Given the description of an element on the screen output the (x, y) to click on. 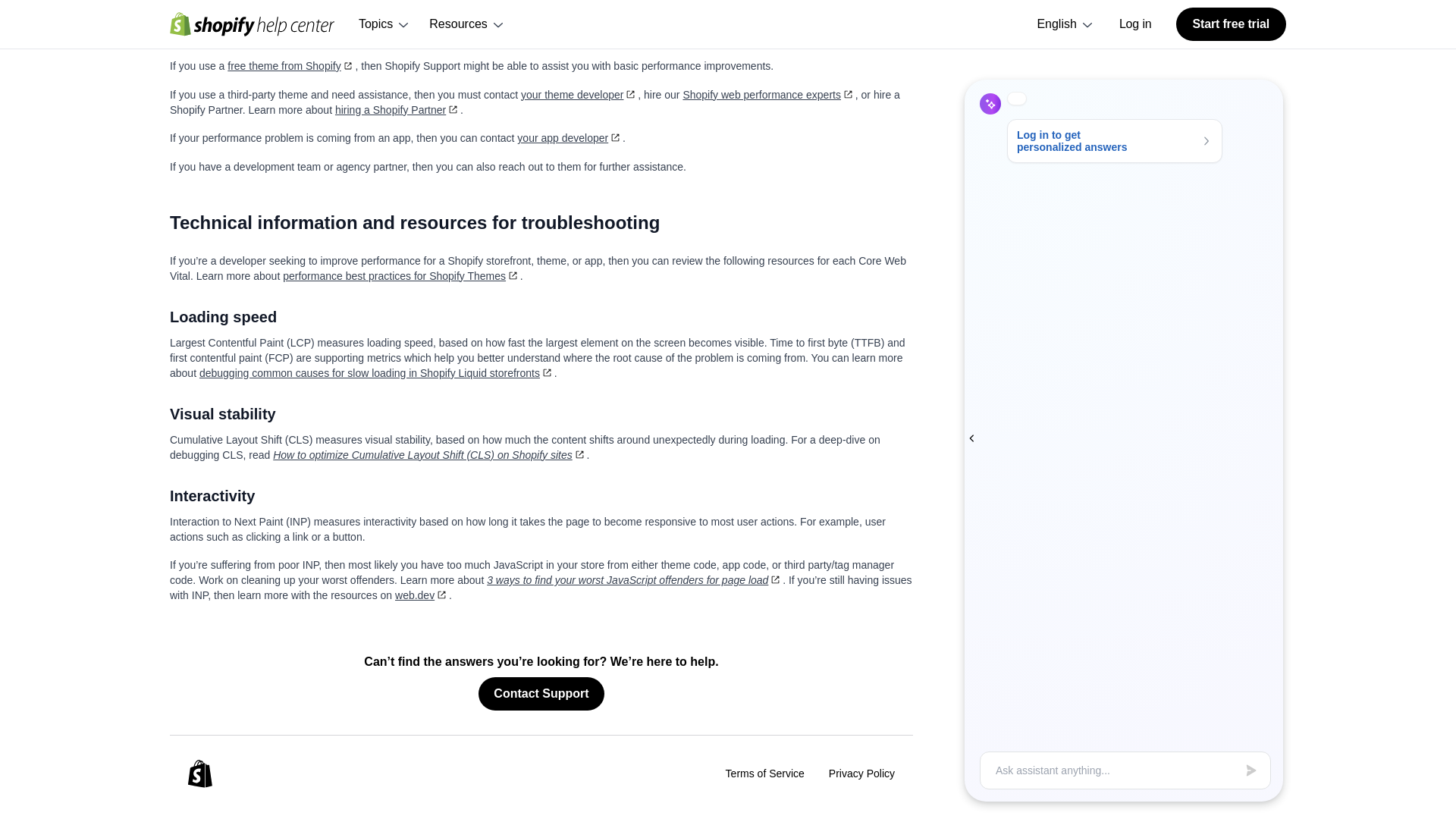
your theme developer (579, 94)
free theme from Shopify (291, 65)
your app developer (569, 137)
performance best practices for Shopify Themes (400, 275)
Shopify web performance experts (768, 94)
hiring a Shopify Partner (397, 110)
